Given the description of an element on the screen output the (x, y) to click on. 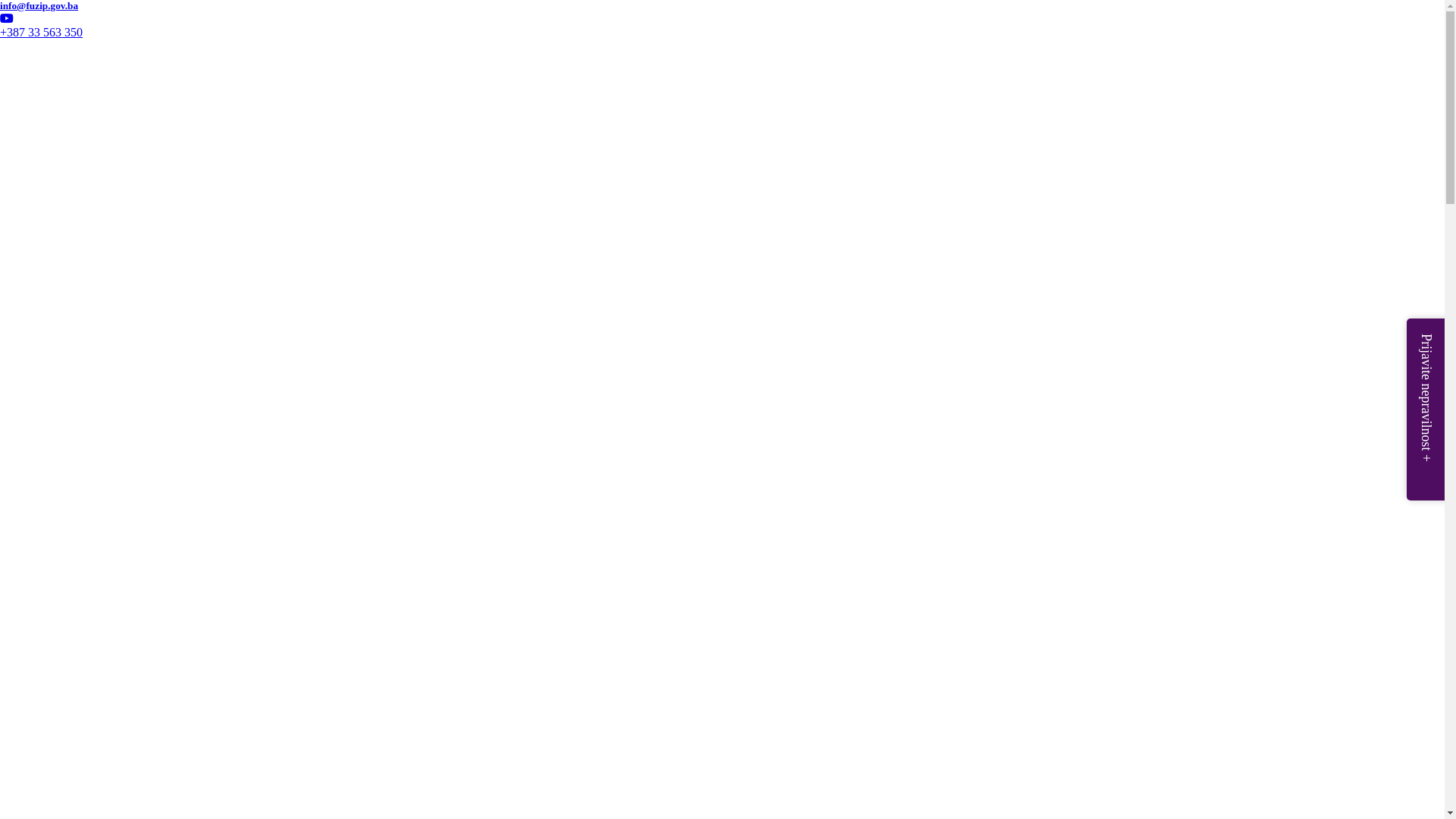
+387 33 563 350 Element type: text (41, 31)
info@fuzip.gov.ba Element type: text (443, 6)
